Given the description of an element on the screen output the (x, y) to click on. 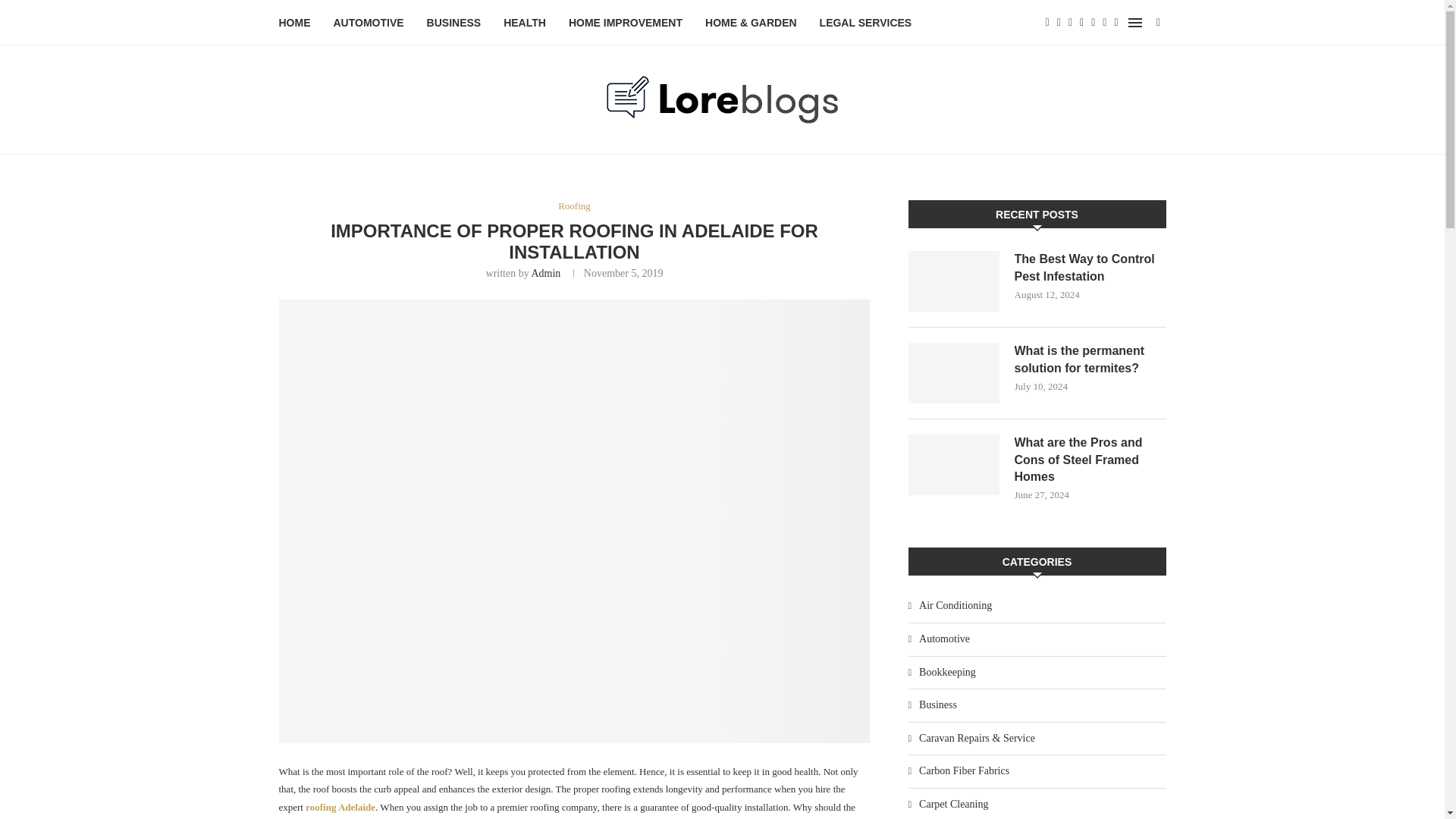
LEGAL SERVICES (865, 22)
The Best Way to Control Pest Infestation (953, 281)
roofing Adelaide (340, 807)
HOME IMPROVEMENT (625, 22)
HEALTH (524, 22)
Roofing (574, 205)
BUSINESS (453, 22)
The Best Way to Control Pest Infestation (1090, 267)
Admin (545, 273)
